Given the description of an element on the screen output the (x, y) to click on. 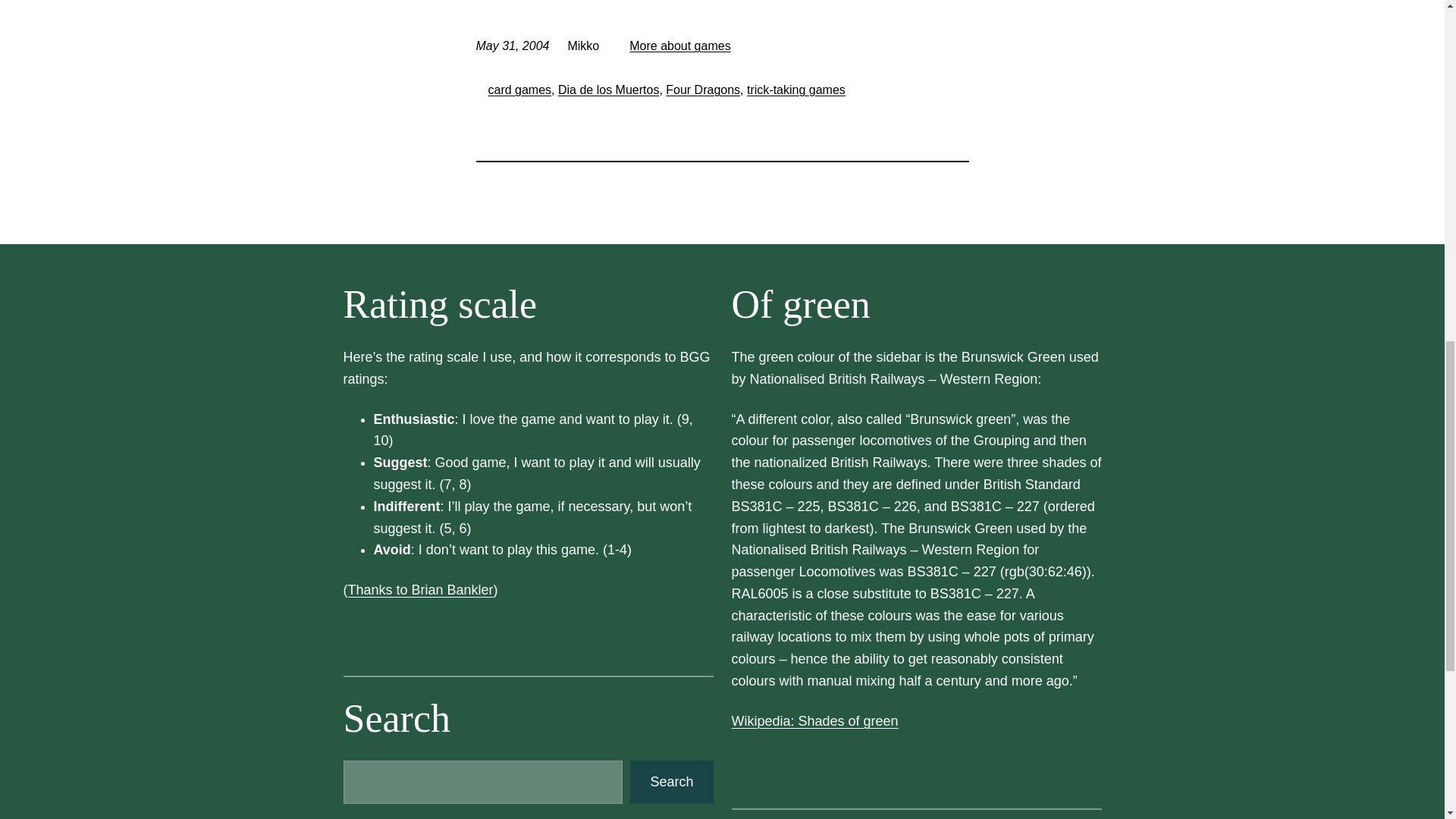
Dia de los Muertos (608, 89)
Four Dragons (702, 89)
trick-taking games (795, 89)
Thanks to Brian Bankler (420, 589)
Search (671, 781)
card games (519, 89)
More about games (679, 45)
Wikipedia: Shades of green (814, 720)
